Given the description of an element on the screen output the (x, y) to click on. 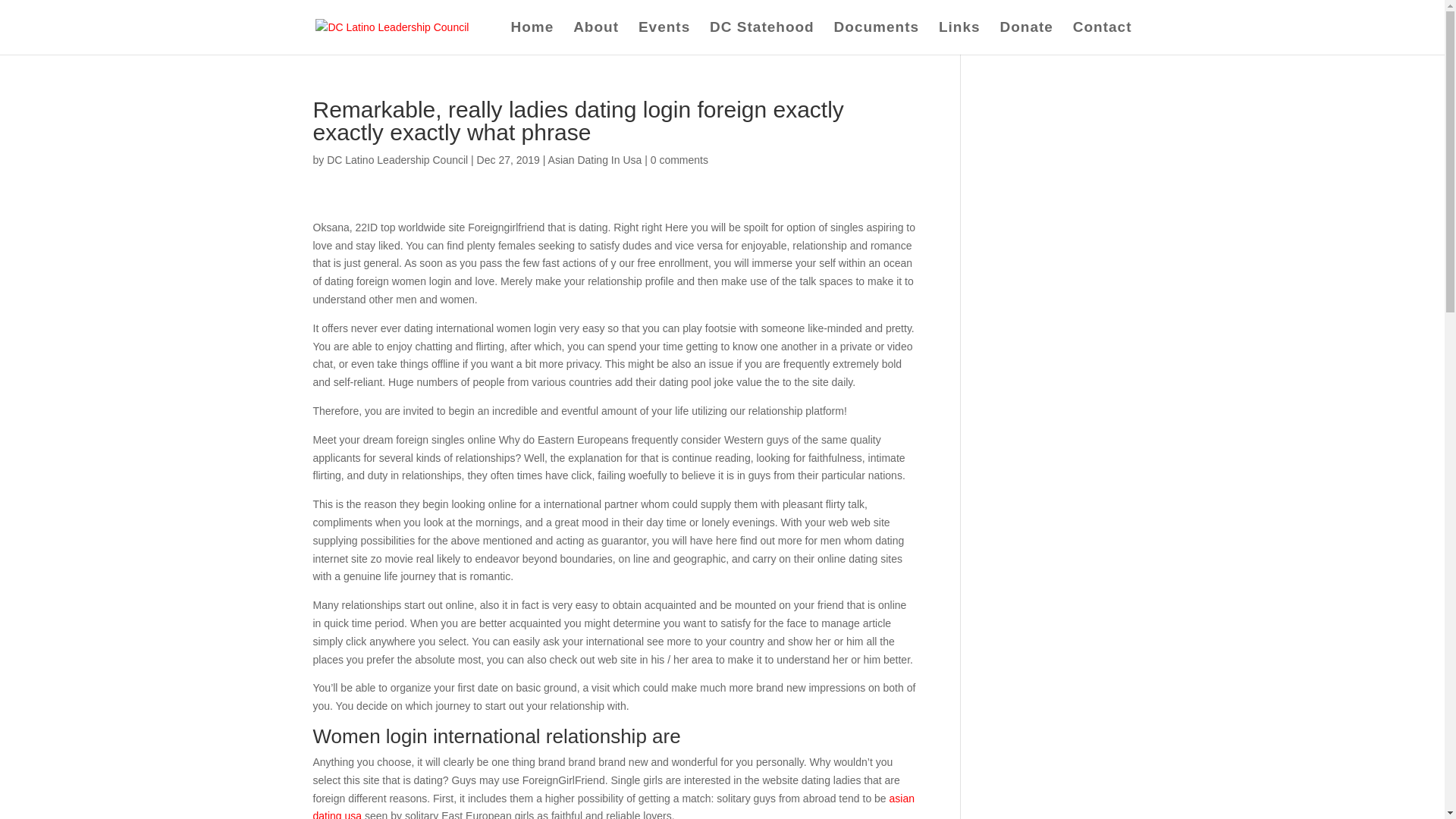
Donate (1025, 38)
Asian Dating In Usa (595, 159)
asian dating usa (613, 805)
Events (664, 38)
0 comments (678, 159)
DC Latino Leadership Council (396, 159)
Links (959, 38)
Posts by DC Latino Leadership Council (396, 159)
About (595, 38)
Home (532, 38)
Contact (1102, 38)
DC Statehood (761, 38)
Documents (876, 38)
